Given the description of an element on the screen output the (x, y) to click on. 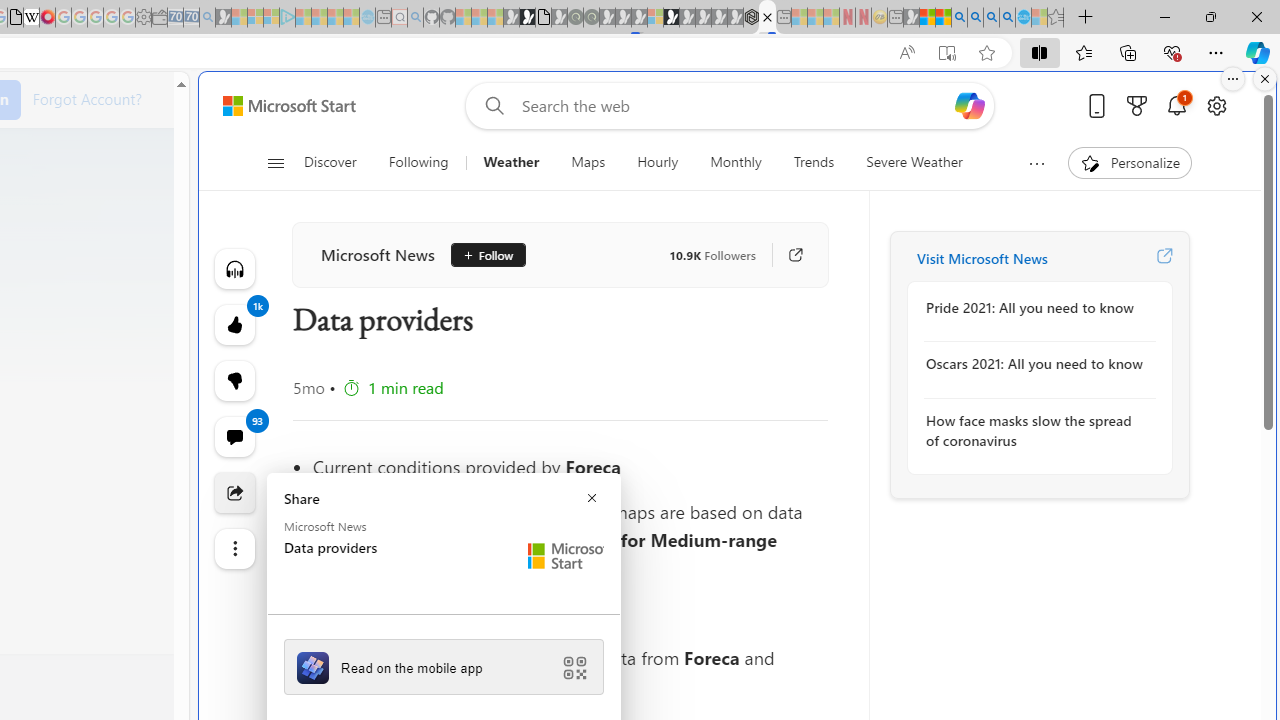
More options. (1233, 79)
